Given the description of an element on the screen output the (x, y) to click on. 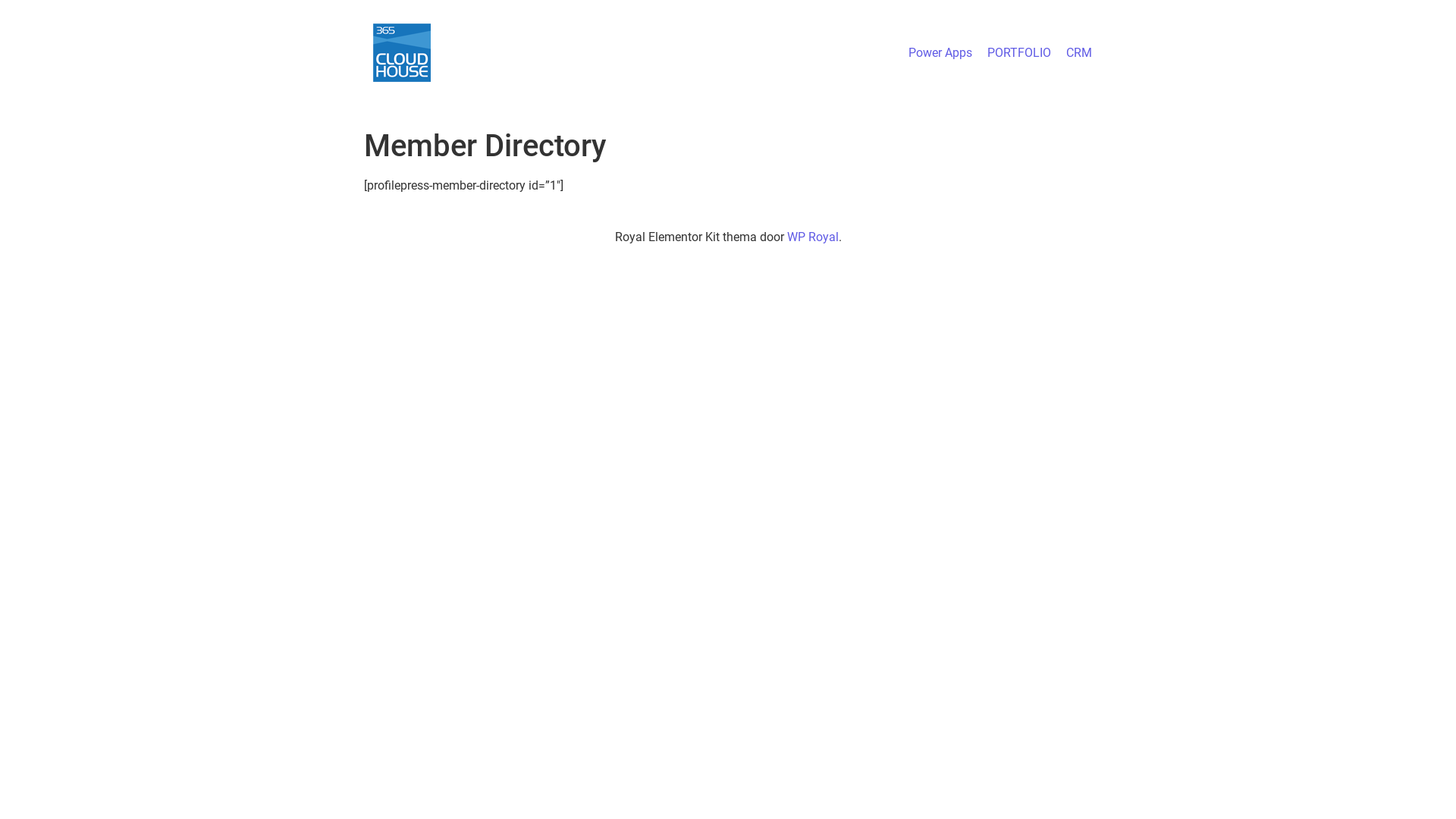
CRM Element type: text (1079, 52)
WP Royal Element type: text (812, 236)
PORTFOLIO Element type: text (1019, 52)
Power Apps Element type: text (940, 52)
